Given the description of an element on the screen output the (x, y) to click on. 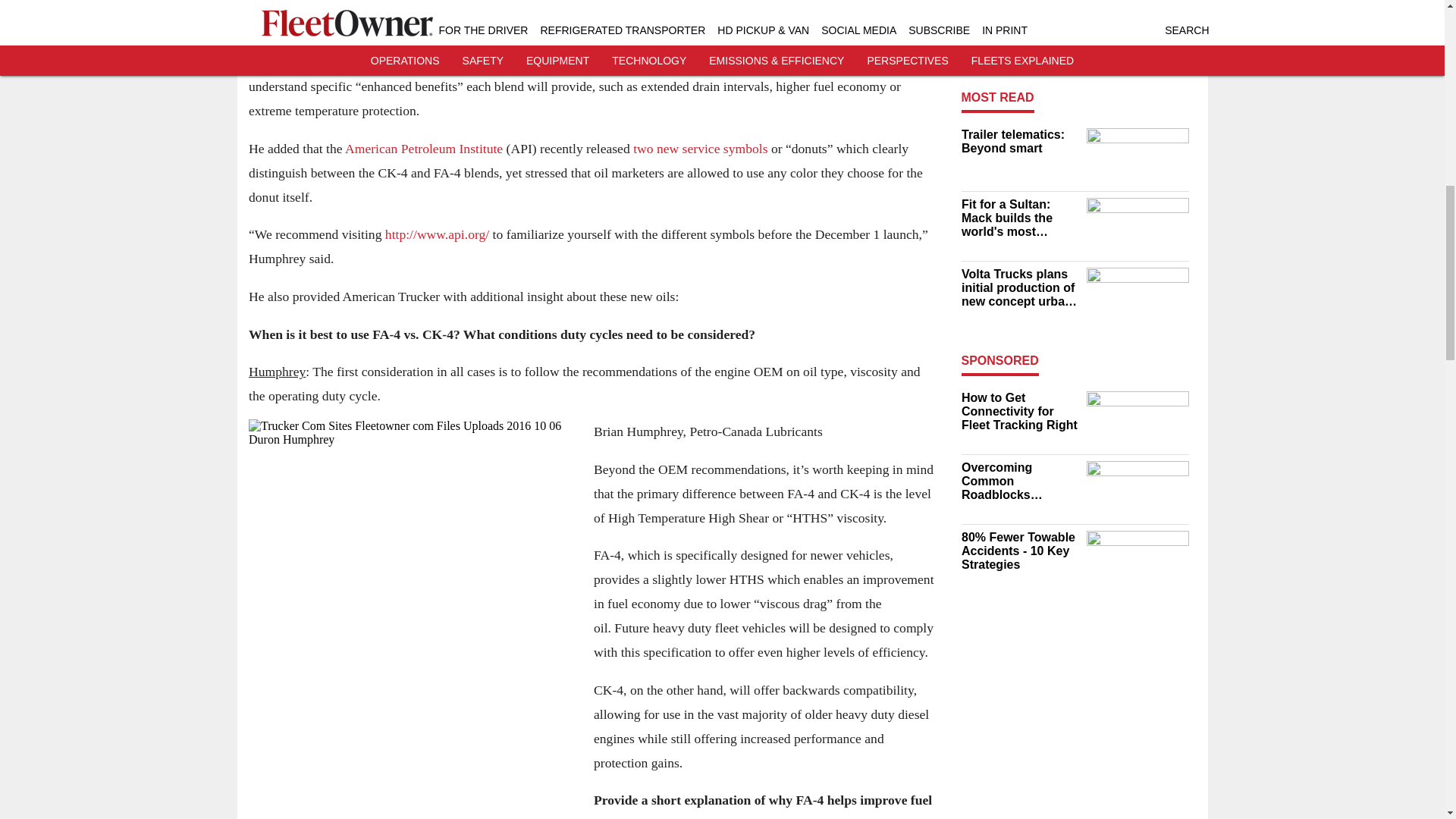
American Petroleum Institute (423, 147)
two new service symbols (700, 147)
